Given the description of an element on the screen output the (x, y) to click on. 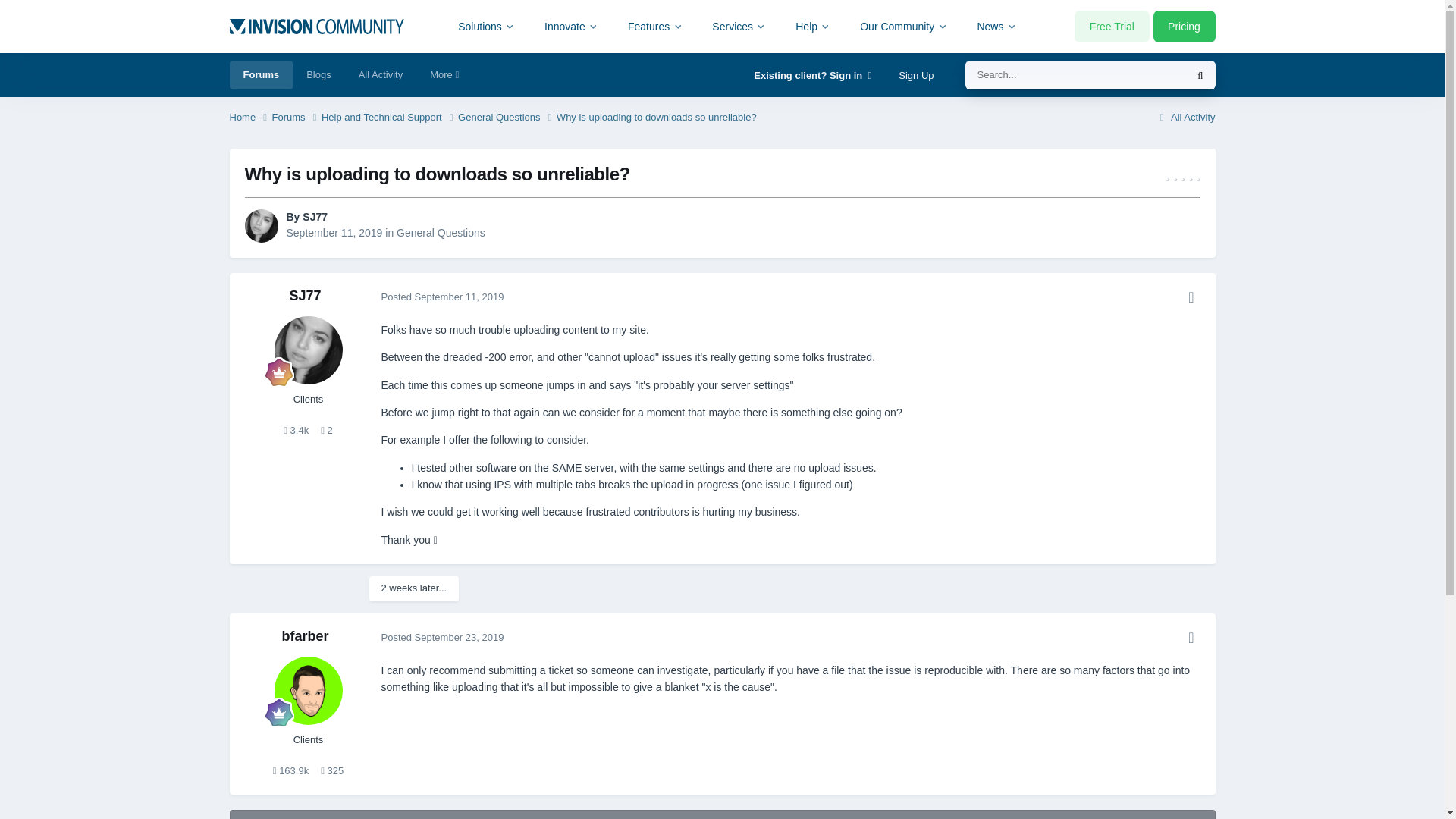
Help (812, 26)
Features (654, 26)
Solutions (486, 26)
Home (249, 117)
Services (738, 26)
Innovate (570, 26)
